Given the description of an element on the screen output the (x, y) to click on. 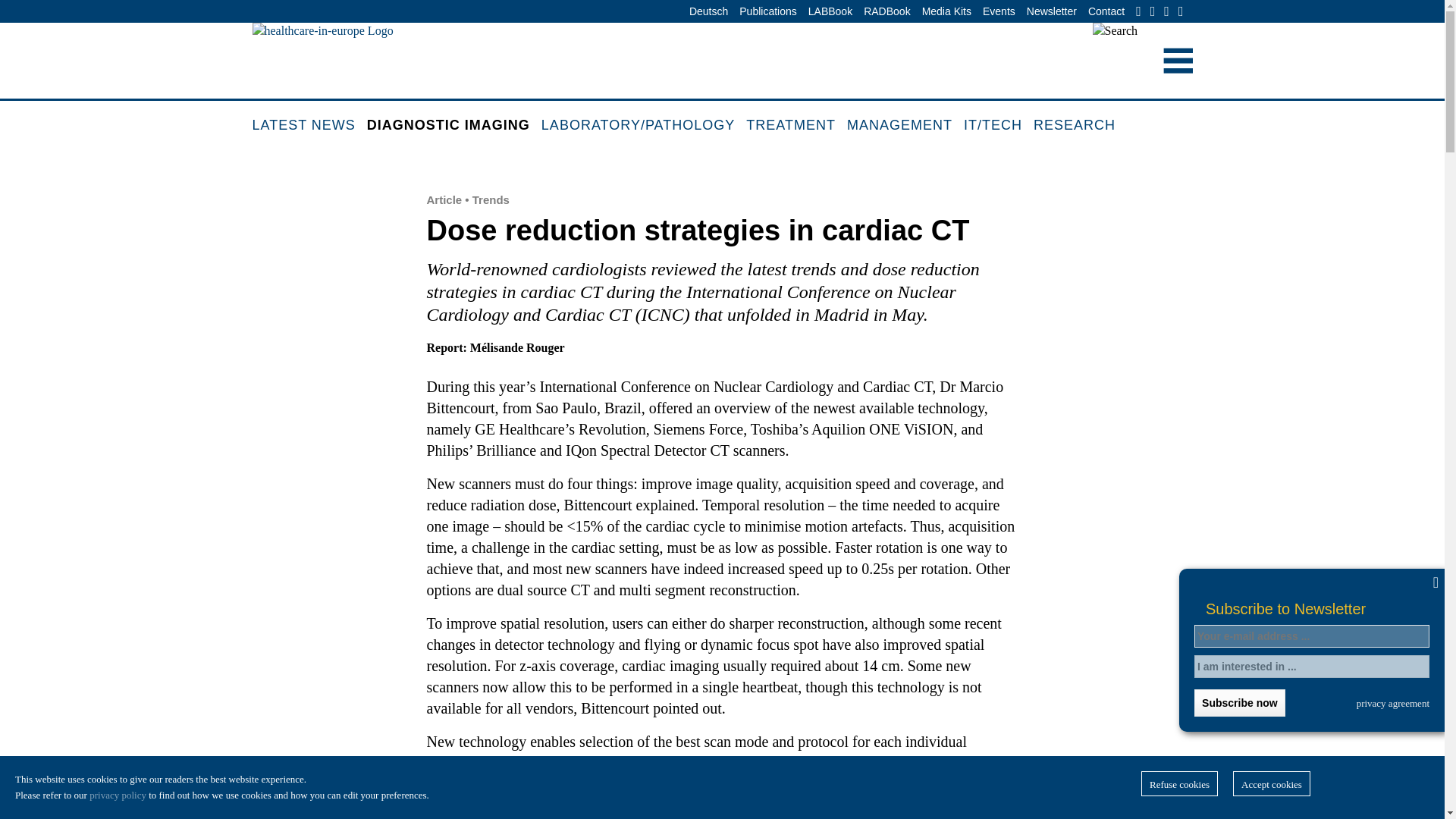
Newsletter (1051, 12)
RESEARCH (1079, 126)
Contact (1106, 12)
RADBook (887, 12)
Deutsch (708, 12)
TREATMENT (796, 126)
Events (998, 12)
LATEST NEWS (308, 126)
Publications (767, 12)
Media Kits (946, 12)
